Given the description of an element on the screen output the (x, y) to click on. 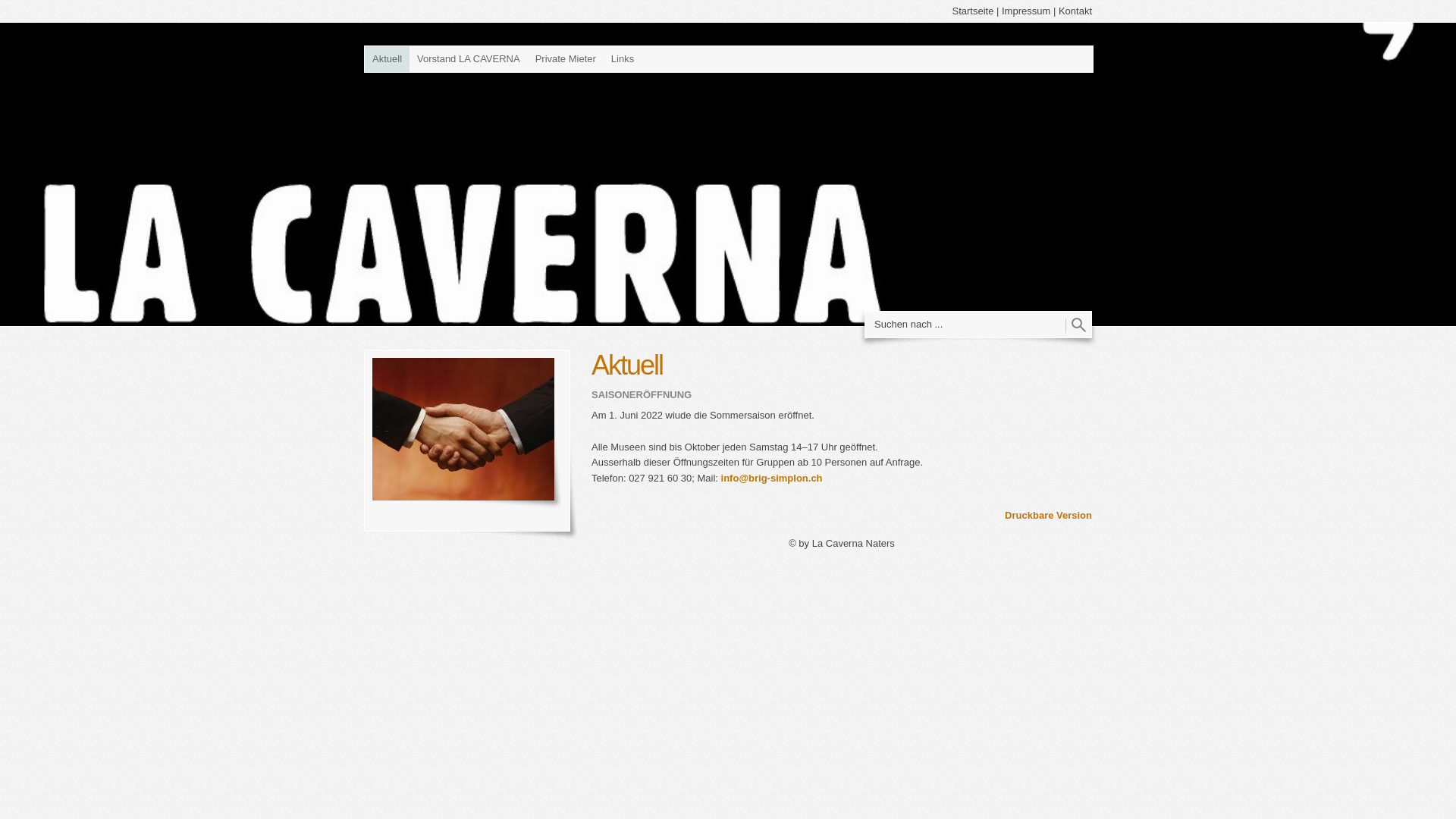
Impressum Element type: text (1025, 10)
Druckbare Version Element type: text (1048, 514)
info@brig-simplon.ch Element type: text (771, 477)
Kontakt Element type: text (1075, 10)
Links Element type: text (622, 59)
Vorstand LA CAVERNA Element type: text (468, 59)
Private Mieter Element type: text (565, 59)
Startseite Element type: text (972, 10)
Aktuell Element type: text (386, 59)
